Given the description of an element on the screen output the (x, y) to click on. 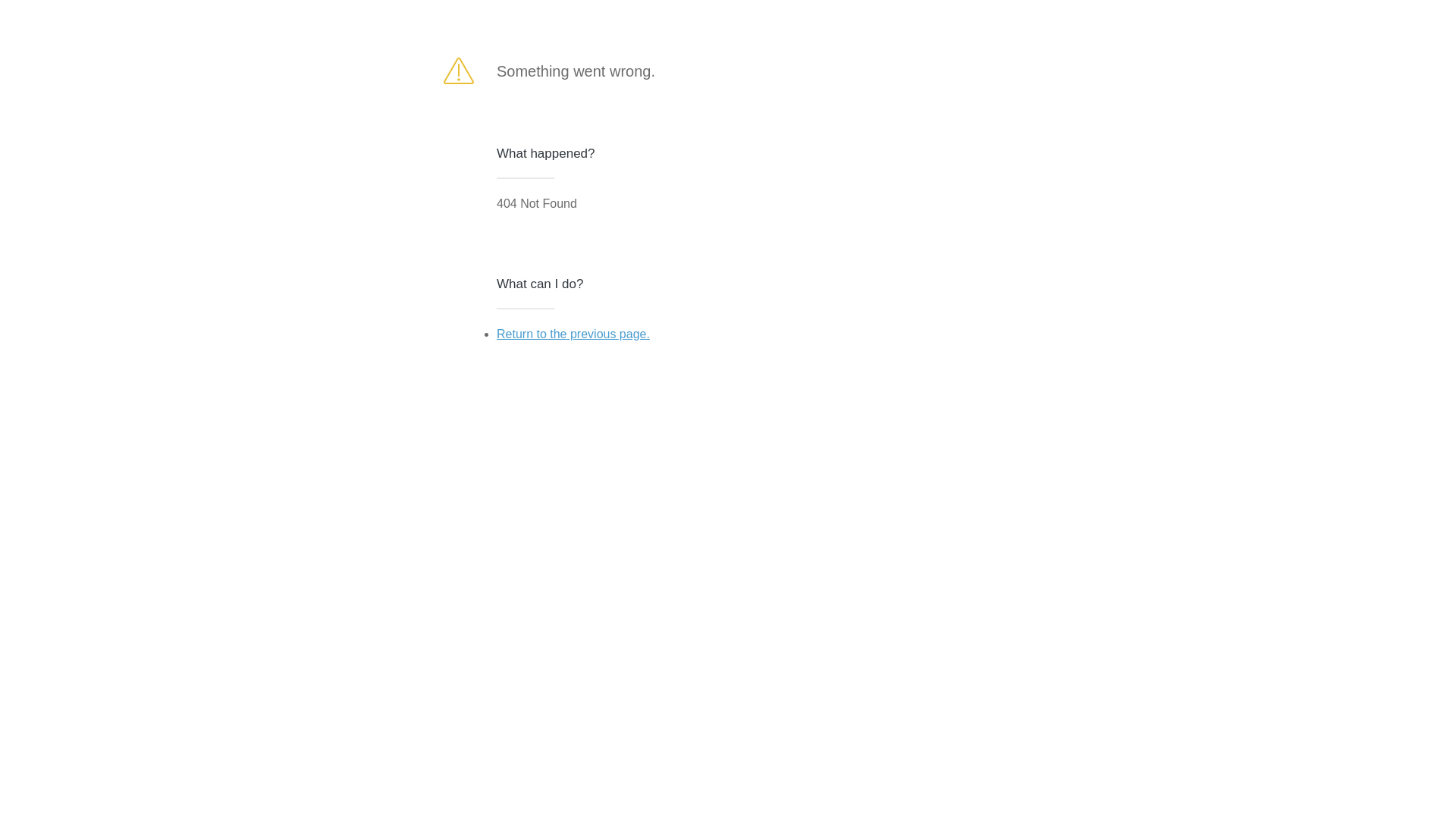
Return to the previous page. Element type: text (572, 333)
